Given the description of an element on the screen output the (x, y) to click on. 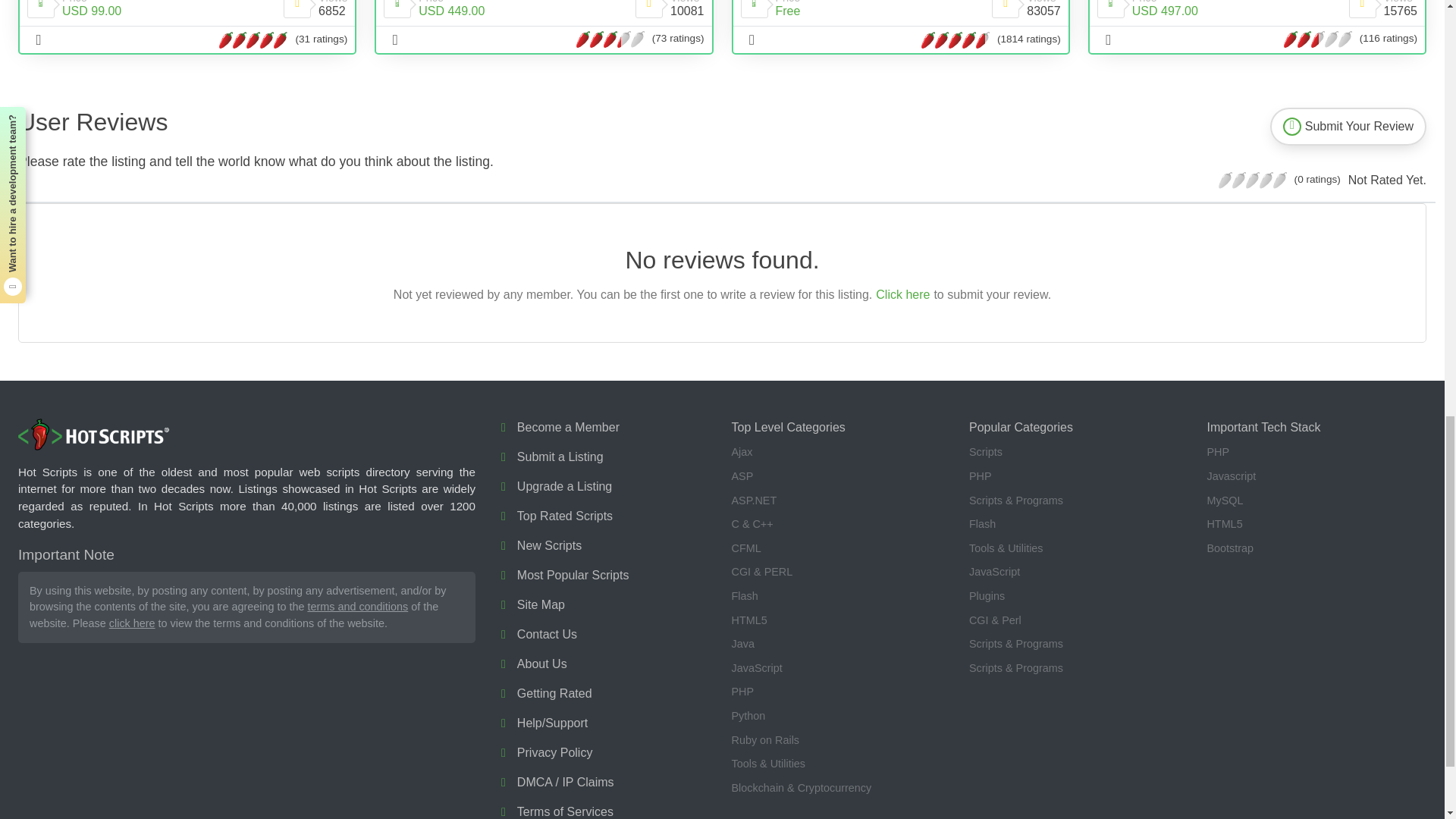
Hotscripts (93, 435)
